Given the description of an element on the screen output the (x, y) to click on. 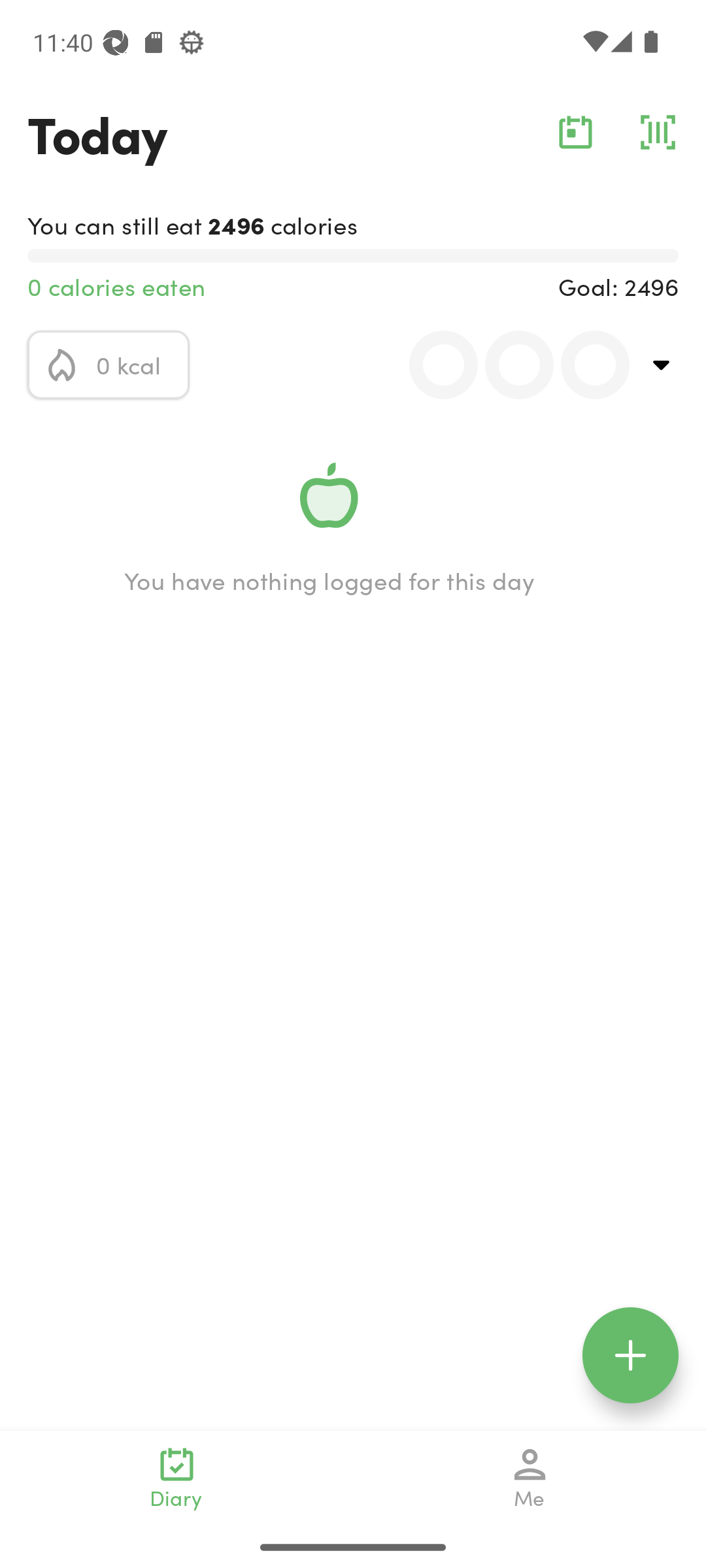
calendar_action (575, 132)
barcode_action (658, 132)
calorie_icon 0 kcal (108, 365)
0.0 0.0 0.0 (508, 365)
top_right_action (661, 365)
floating_action_icon (630, 1355)
Me navigation_icon (529, 1478)
